Given the description of an element on the screen output the (x, y) to click on. 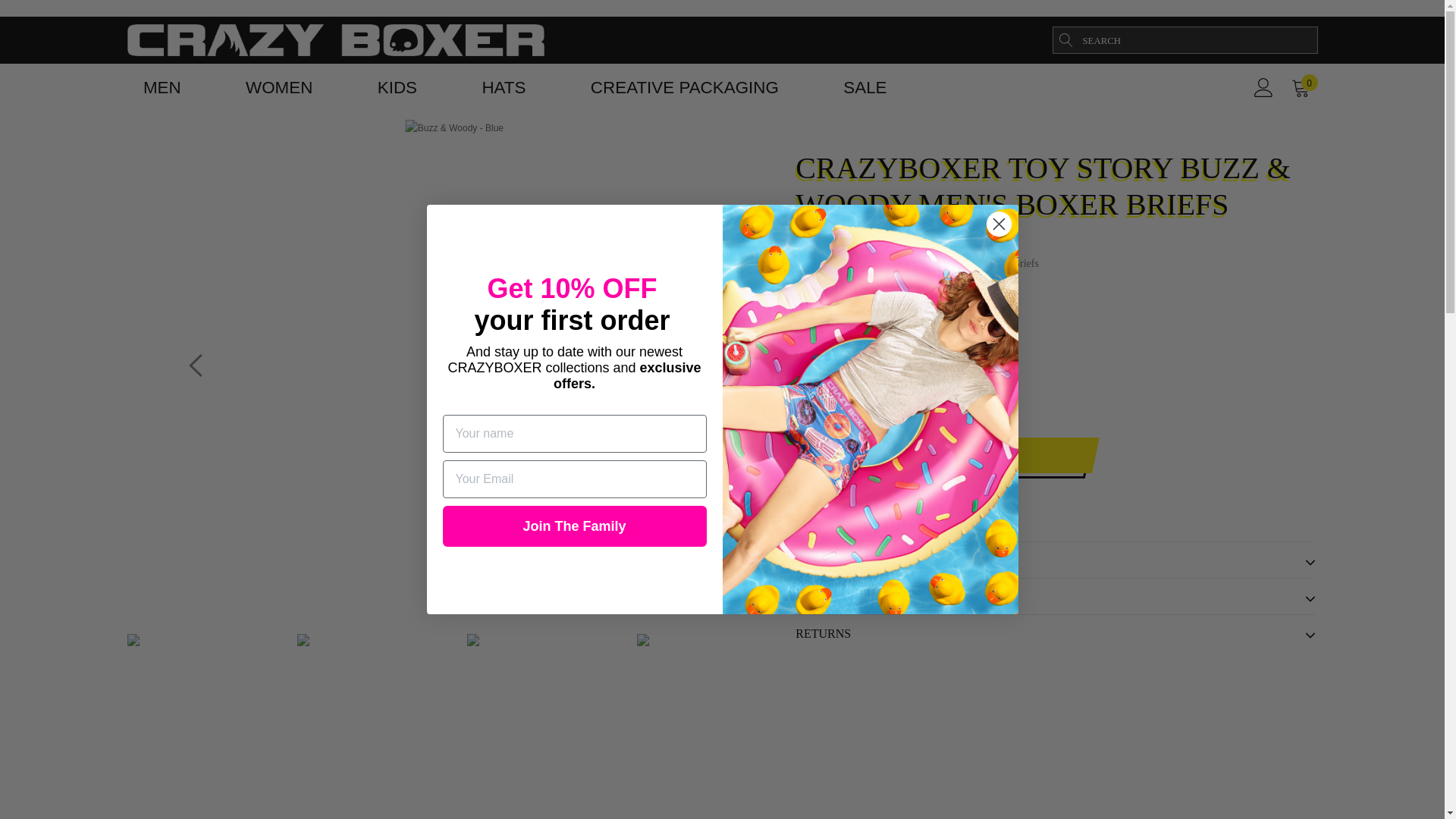
S (807, 327)
M (841, 327)
L (908, 327)
1 (841, 400)
XL (874, 327)
search (1065, 40)
MEN (161, 87)
